Given the description of an element on the screen output the (x, y) to click on. 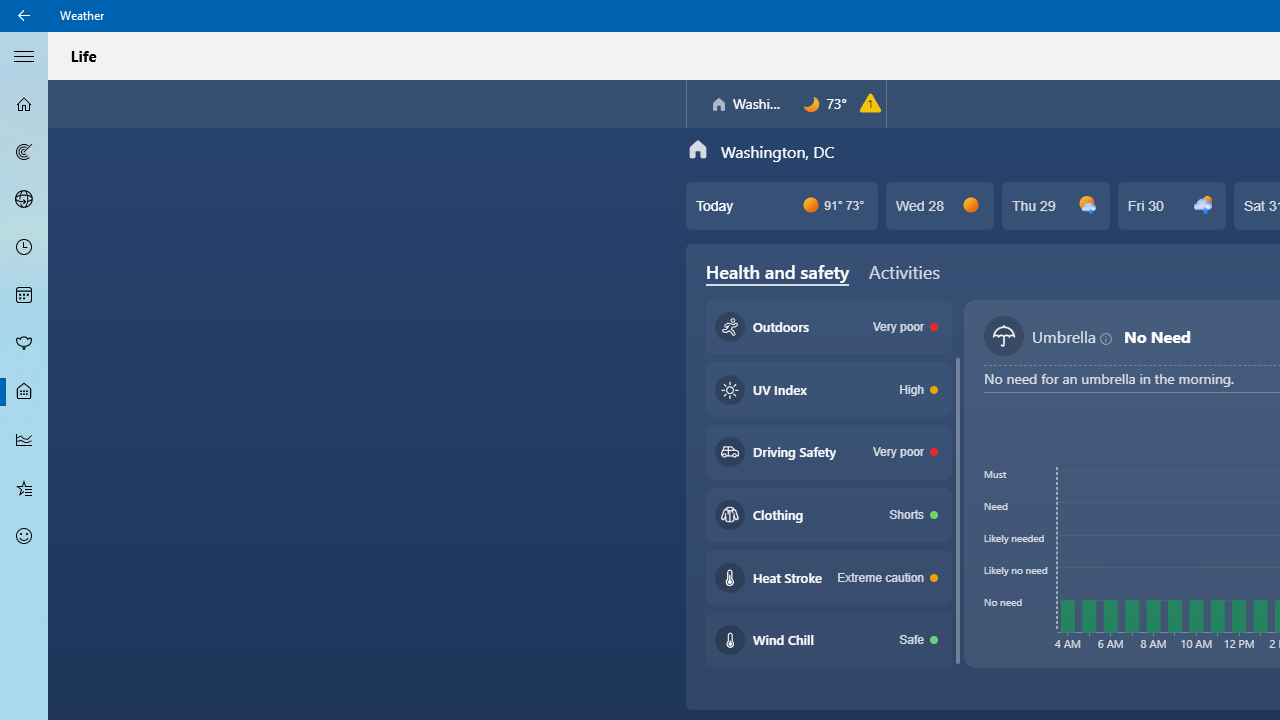
Life - Not Selected (24, 391)
Forecast - Not Selected (24, 103)
Favorites - Not Selected (24, 487)
Send Feedback - Not Selected (24, 535)
Monthly Forecast - Not Selected (24, 295)
Forecast - Not Selected (24, 103)
Maps - Not Selected (24, 151)
Hourly Forecast - Not Selected (24, 247)
Send Feedback - Not Selected (24, 535)
Collapse Navigation (24, 55)
Favorites - Not Selected (24, 487)
Pollen - Not Selected (24, 343)
3D Maps - Not Selected (24, 199)
Historical Weather - Not Selected (24, 439)
